Given the description of an element on the screen output the (x, y) to click on. 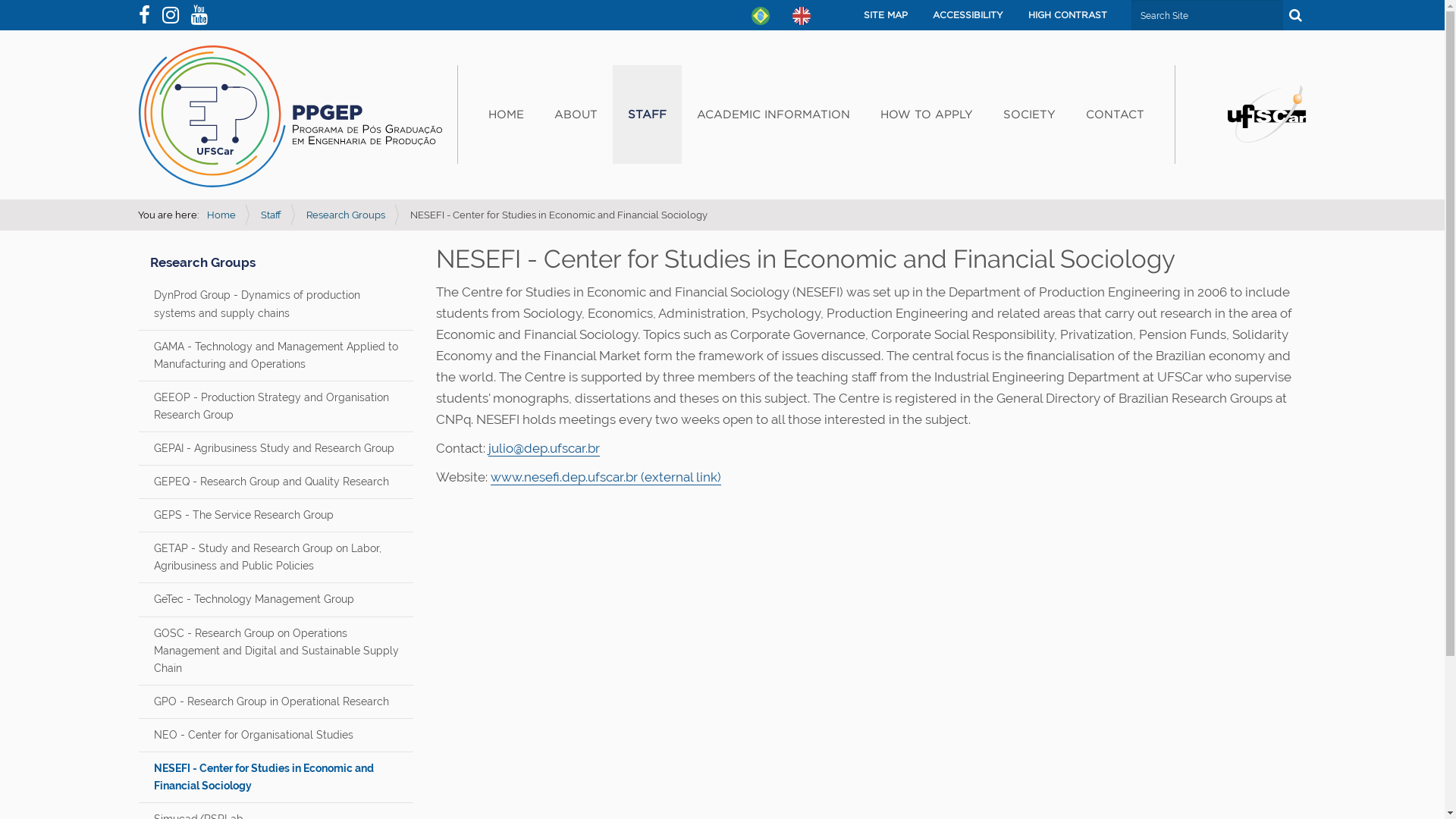
ABOUT Element type: text (574, 114)
ACADEMIC INFORMATION Element type: text (772, 114)
GEPEQ - Research Group and Quality Research Element type: text (275, 481)
English Element type: hover (800, 14)
GEPS - The Service Research Group Element type: text (275, 514)
HOW TO APPLY Element type: text (925, 114)
GPO - Research Group in Operational Research Element type: text (275, 701)
SOCIETY Element type: text (1028, 114)
English Element type: hover (289, 116)
CONTACT Element type: text (1114, 114)
ACCESSIBILITY Element type: text (967, 14)
Search Site Element type: hover (1207, 15)
STAFF Element type: text (646, 114)
GeTec - Technology Management Group Element type: text (275, 598)
NEO - Center for Organisational Studies Element type: text (275, 734)
GEEOP - Production Strategy and Organisation Research Group Element type: text (275, 405)
HOME Element type: text (506, 114)
HIGH CONTRAST Element type: text (1067, 14)
julio@dep.ufscar.br Element type: text (543, 448)
Research Groups Element type: text (345, 214)
English Element type: hover (800, 15)
Portal UFSCar Element type: hover (1265, 111)
GEPAI - Agribusiness Study and Research Group Element type: text (275, 447)
Home Element type: text (220, 214)
Research Groups Element type: text (202, 261)
www.nesefi.dep.ufscar.br (external link) Element type: text (605, 477)
Staff Element type: text (270, 214)
SITE MAP Element type: text (884, 14)
